Given the description of an element on the screen output the (x, y) to click on. 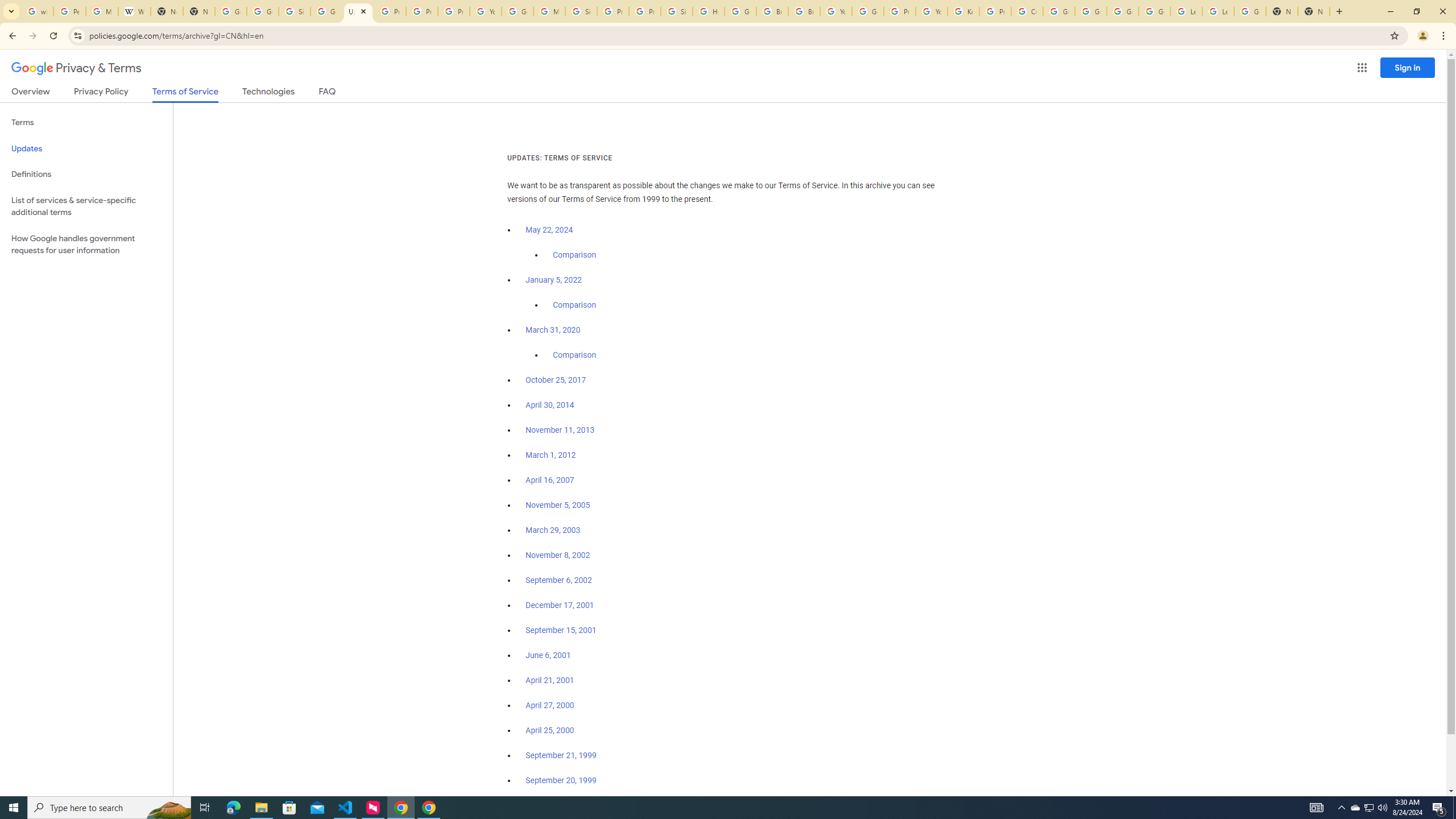
September 15, 2001 (560, 629)
Google Drive: Sign-in (262, 11)
YouTube (485, 11)
Manage your Location History - Google Search Help (101, 11)
April 30, 2014 (550, 405)
Sign in - Google Accounts (676, 11)
December 17, 2001 (559, 605)
Google Account Help (868, 11)
November 5, 2005 (557, 505)
